Given the description of an element on the screen output the (x, y) to click on. 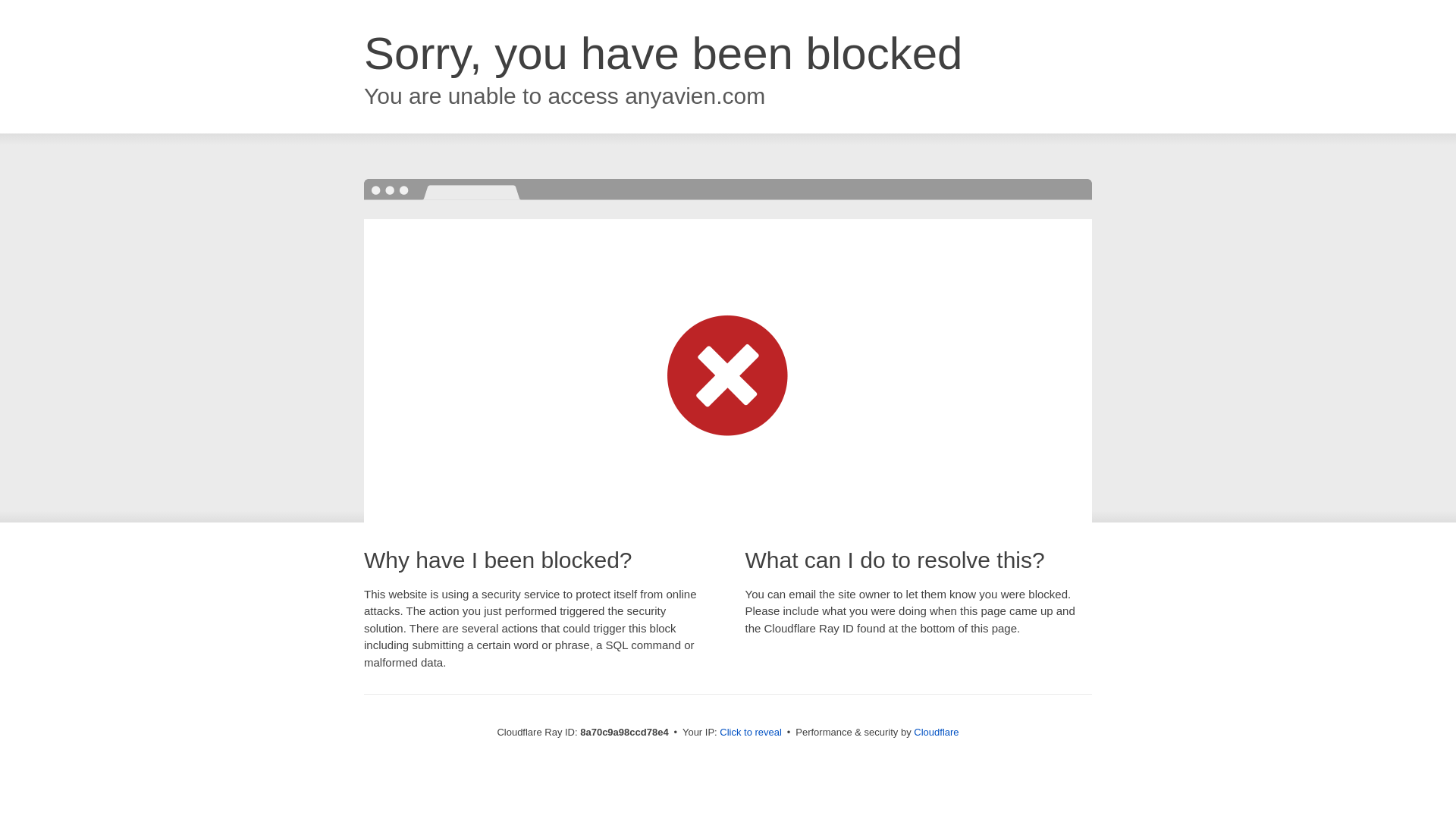
Click to reveal (750, 732)
Cloudflare (936, 731)
